Given the description of an element on the screen output the (x, y) to click on. 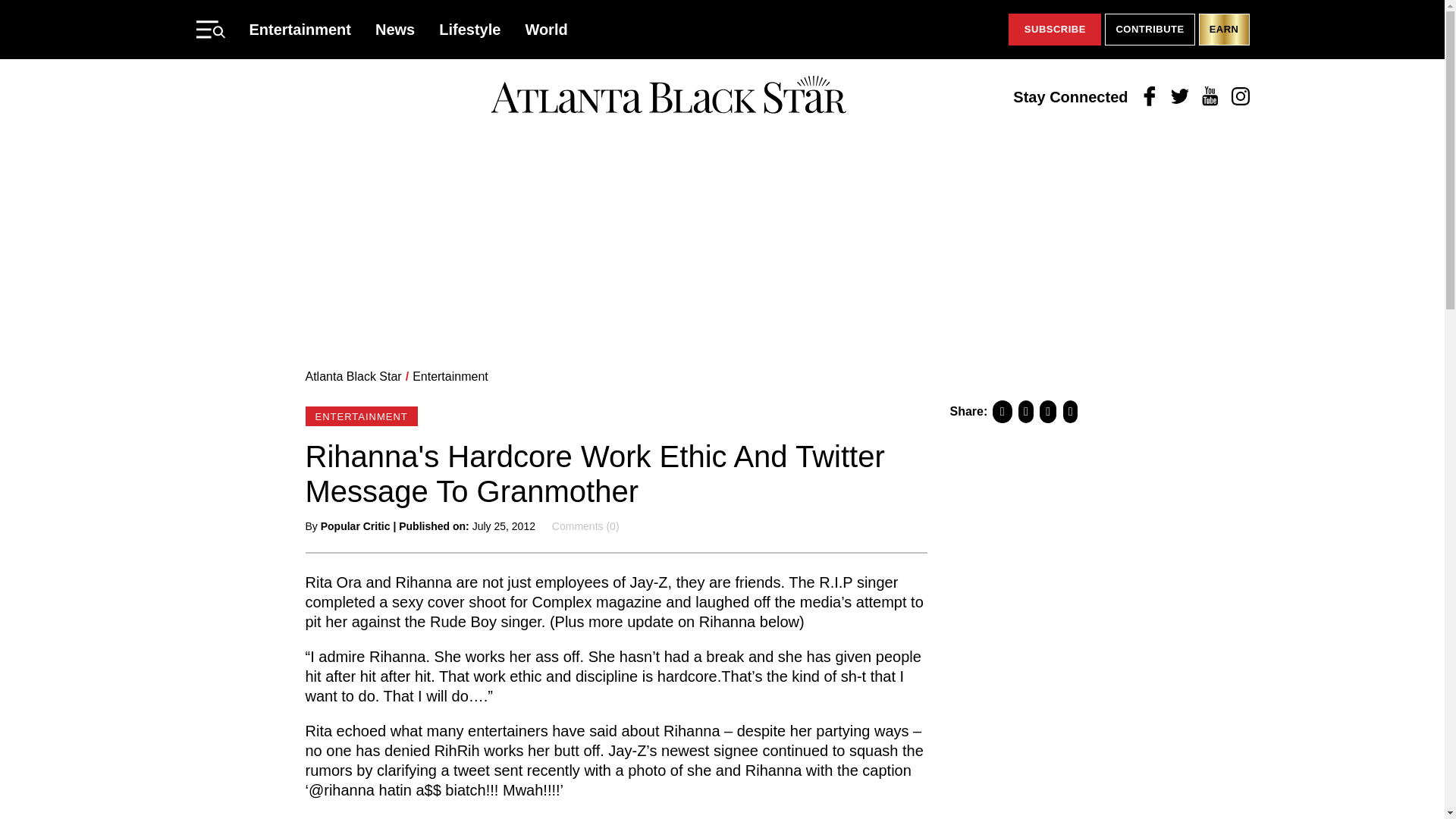
World (545, 29)
Entertainment (299, 29)
Entertainment (449, 376)
SUBSCRIBE (1054, 29)
Go to Atlanta Black Star. (352, 376)
EARN (1223, 29)
News (394, 29)
Atlanta Black Star (667, 96)
CONTRIBUTE (1149, 29)
Atlanta Black Star (352, 376)
Go to the Entertainment Category archives. (449, 376)
Lifestyle (469, 29)
